Given the description of an element on the screen output the (x, y) to click on. 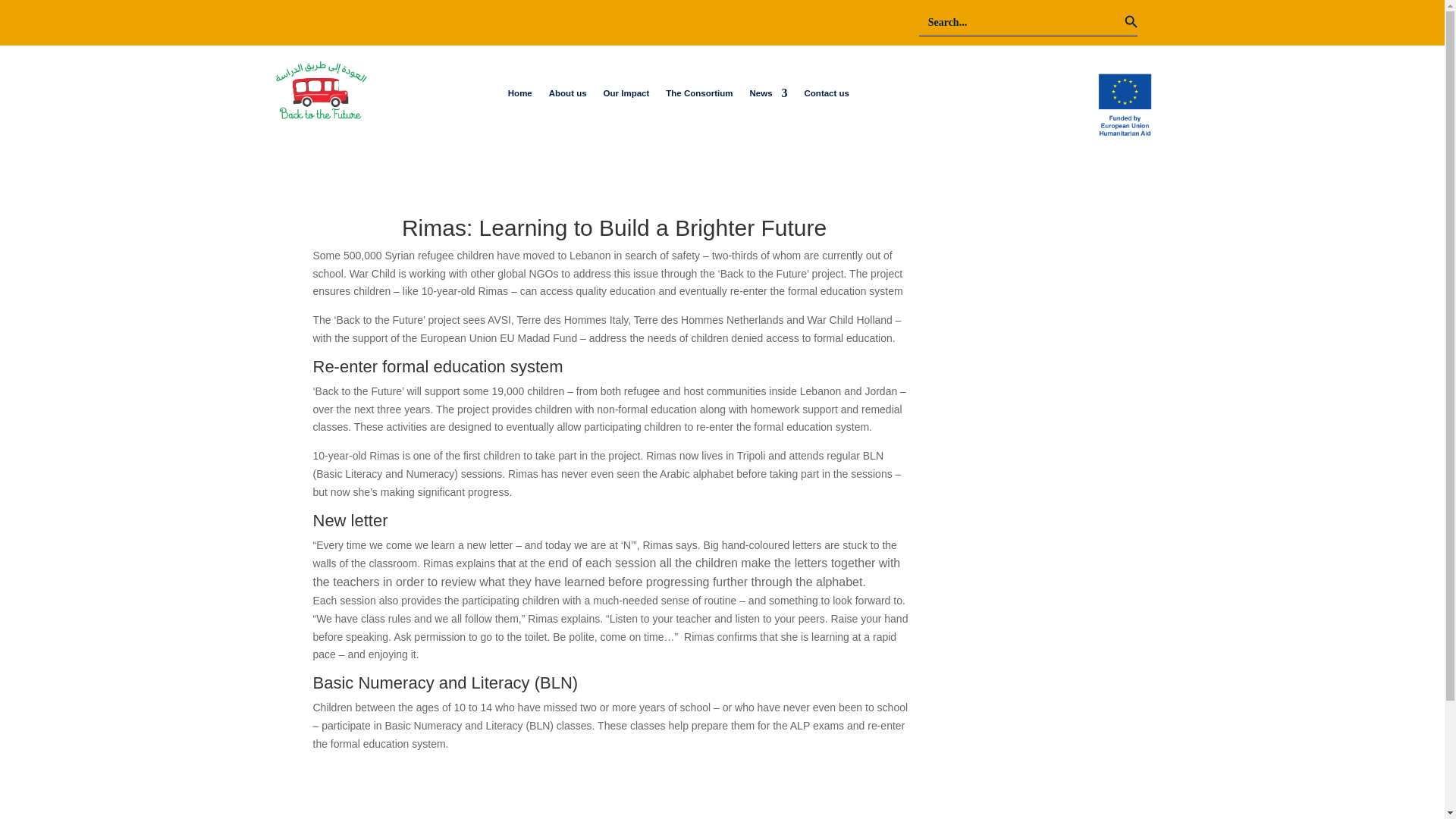
About us (567, 95)
BTF 4 Logo for website-01 (319, 90)
Our Impact (626, 95)
Search Button (1150, 22)
Home (520, 95)
The Consortium (698, 95)
Contact us (826, 95)
News (768, 95)
